Given the description of an element on the screen output the (x, y) to click on. 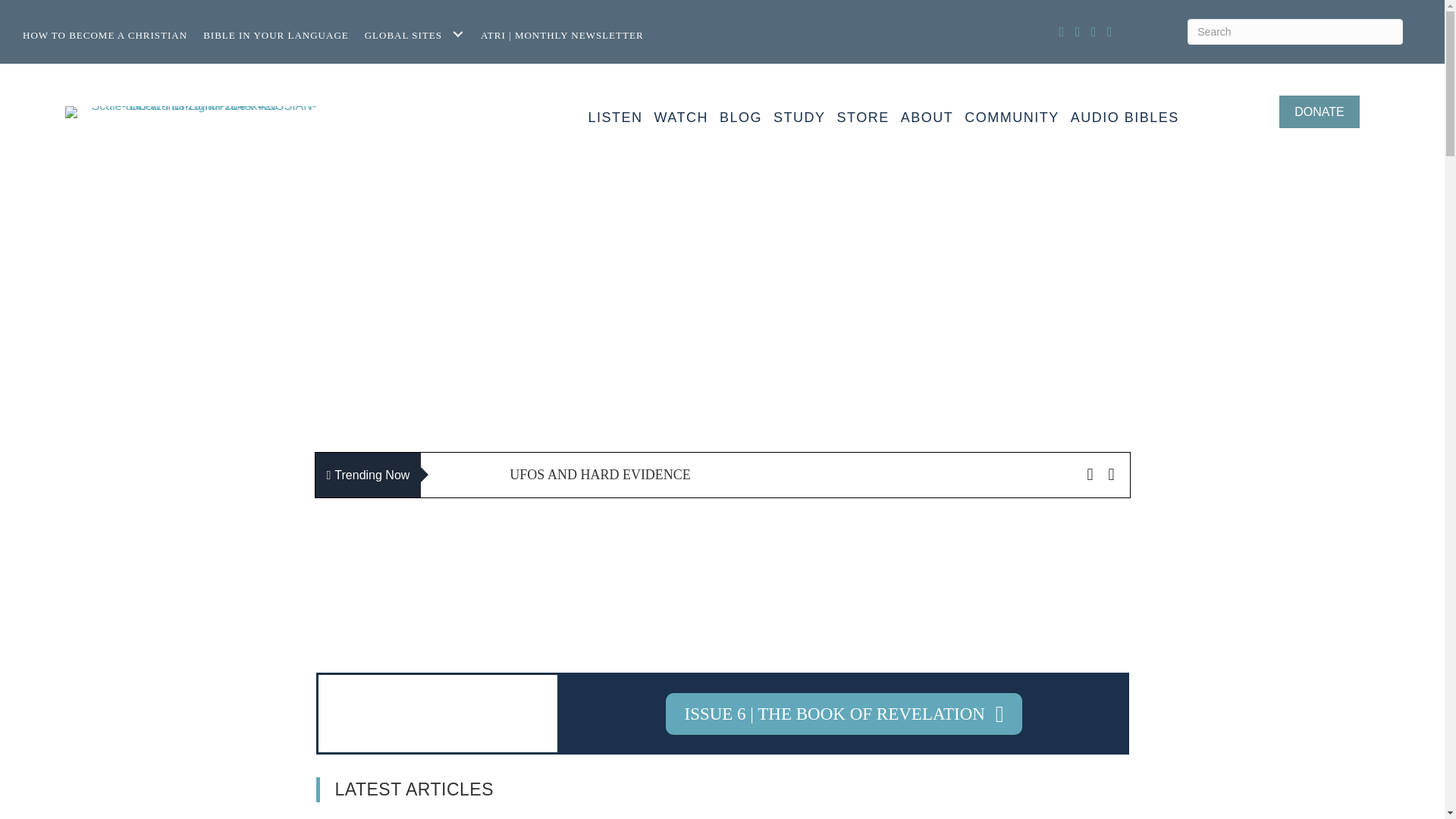
GLOBAL SITES (419, 34)
HOW TO BECOME A CHRISTIAN (108, 34)
ATRI Monthly Logo (437, 713)
Scale-and-Words-Light-Face-PRUSSIAN-BLUE-Horizontal-2048x420 (197, 111)
Type and press Enter to search. (1295, 31)
BIBLE IN YOUR LANGUAGE (280, 34)
